Given the description of an element on the screen output the (x, y) to click on. 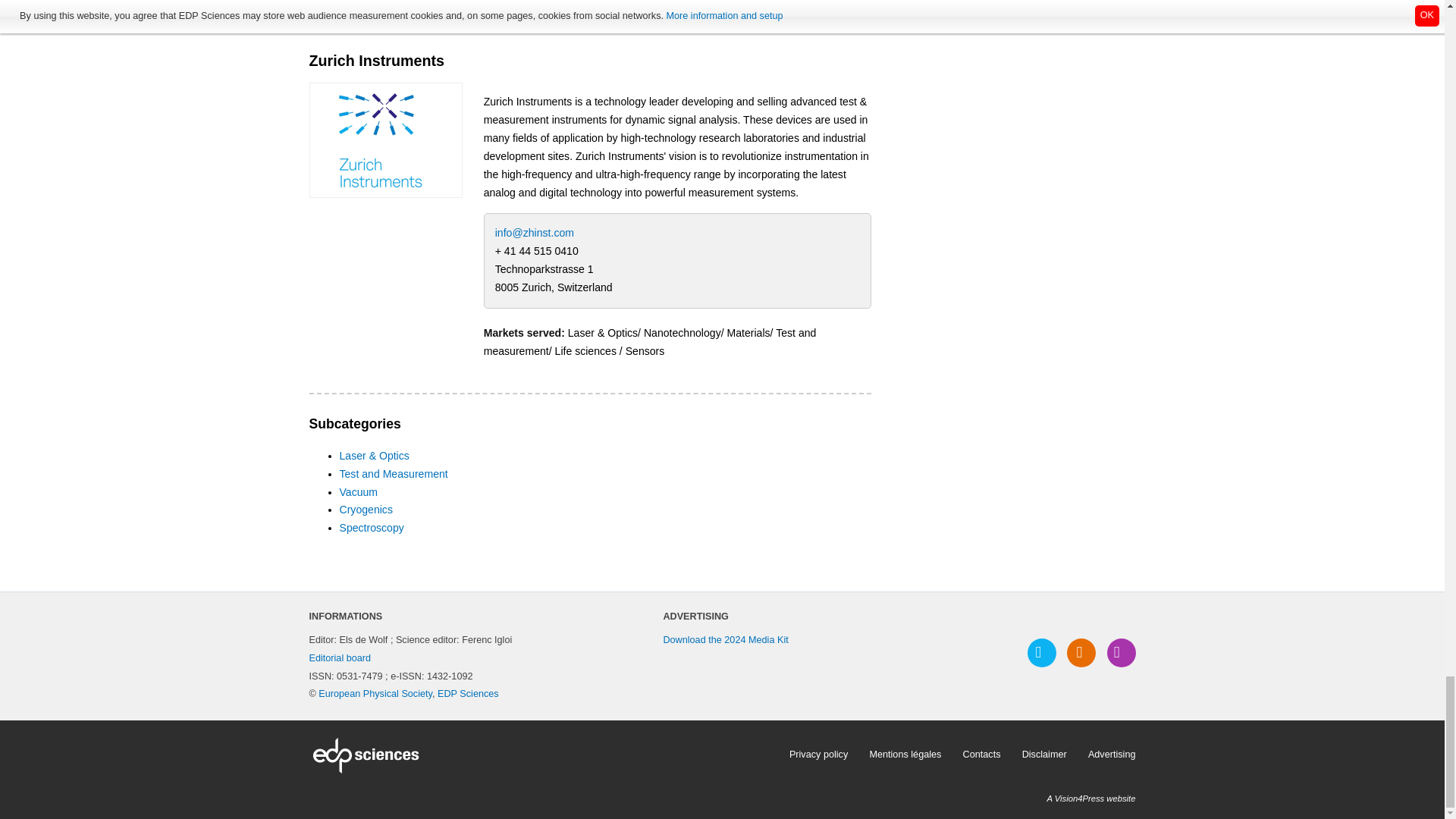
Access the website (385, 139)
Follow us on twitter (1042, 652)
